Given the description of an element on the screen output the (x, y) to click on. 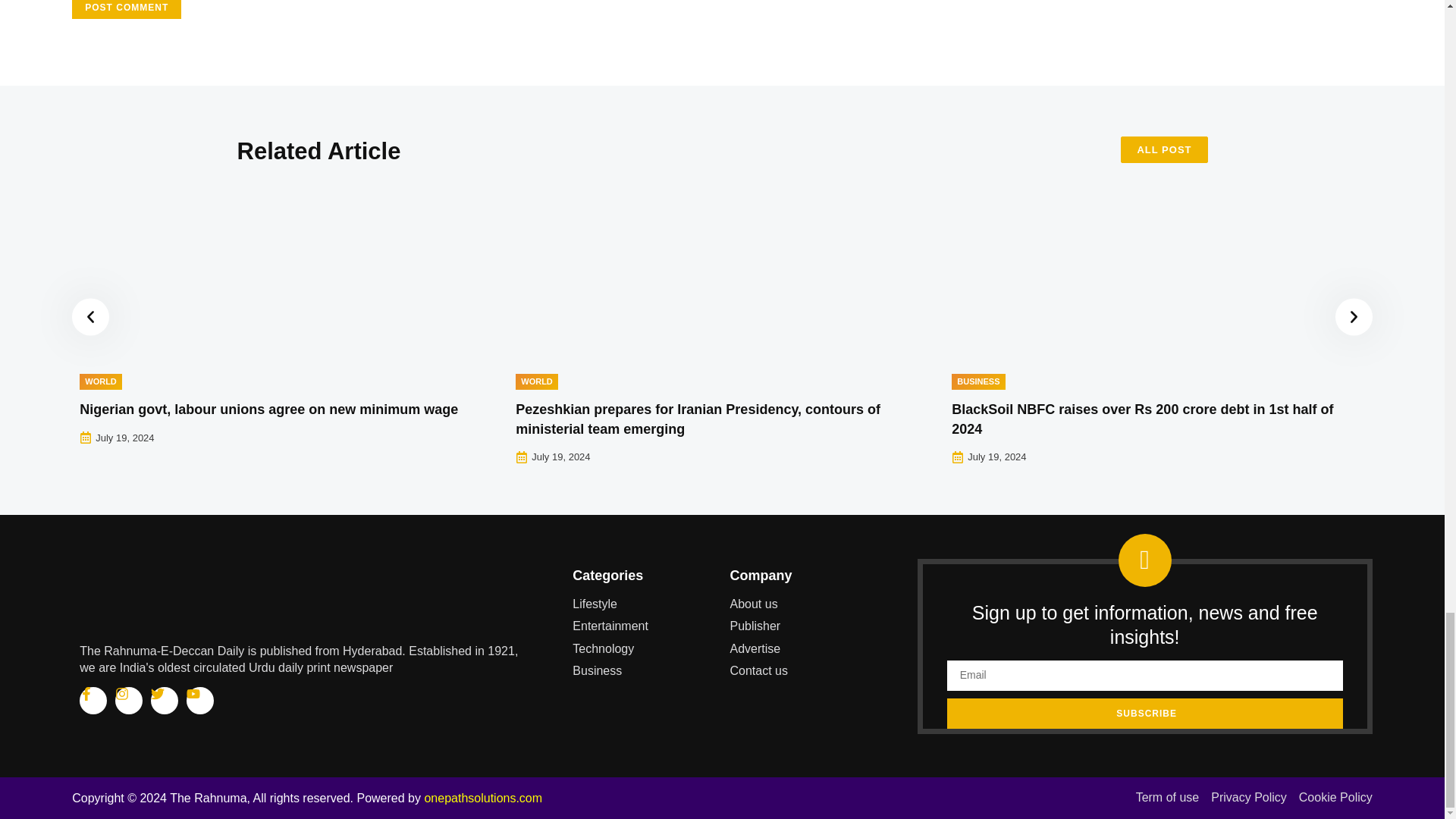
Post Comment (125, 9)
